Given the description of an element on the screen output the (x, y) to click on. 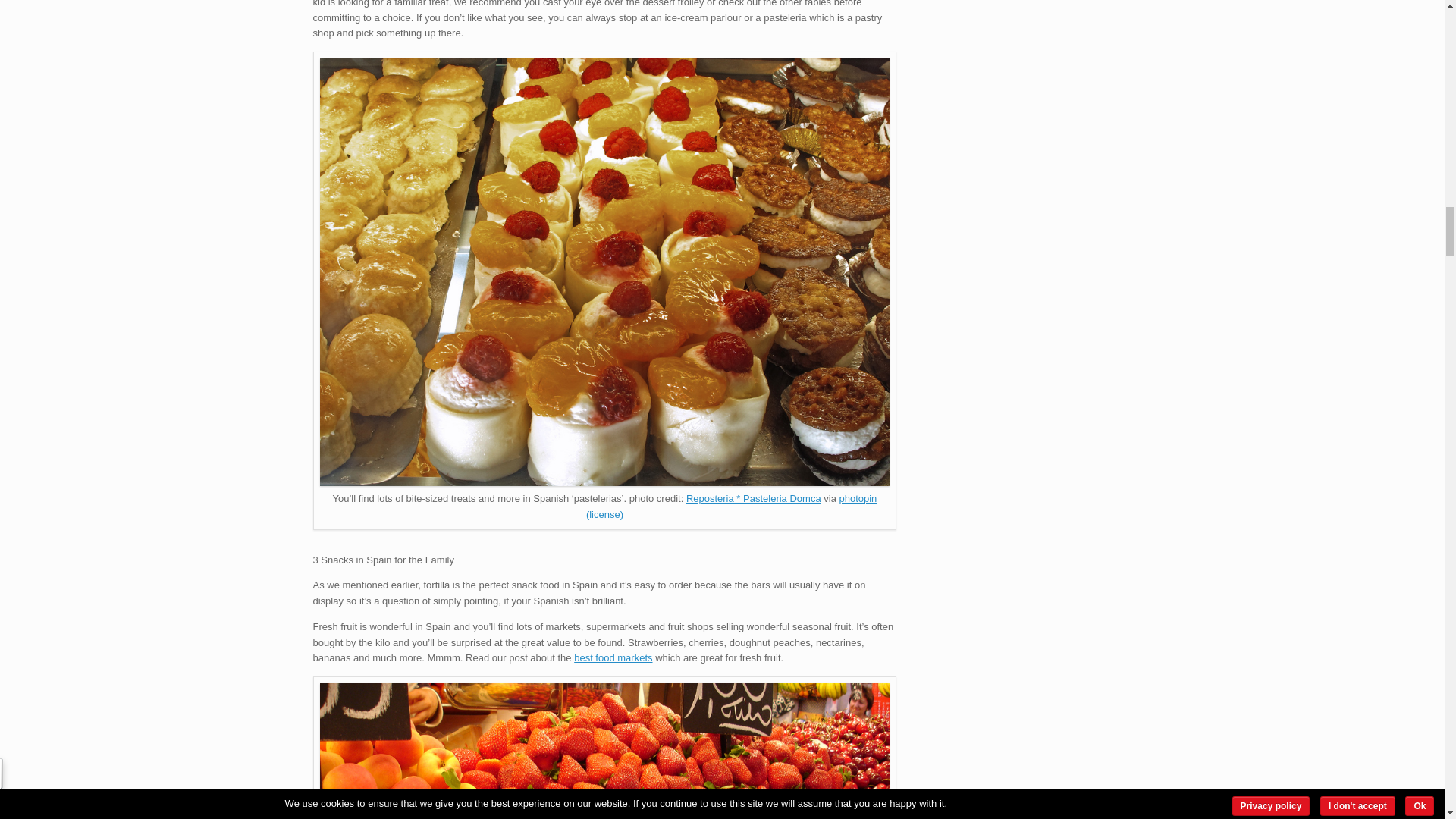
best food markets (612, 657)
photopin (857, 498)
